Given the description of an element on the screen output the (x, y) to click on. 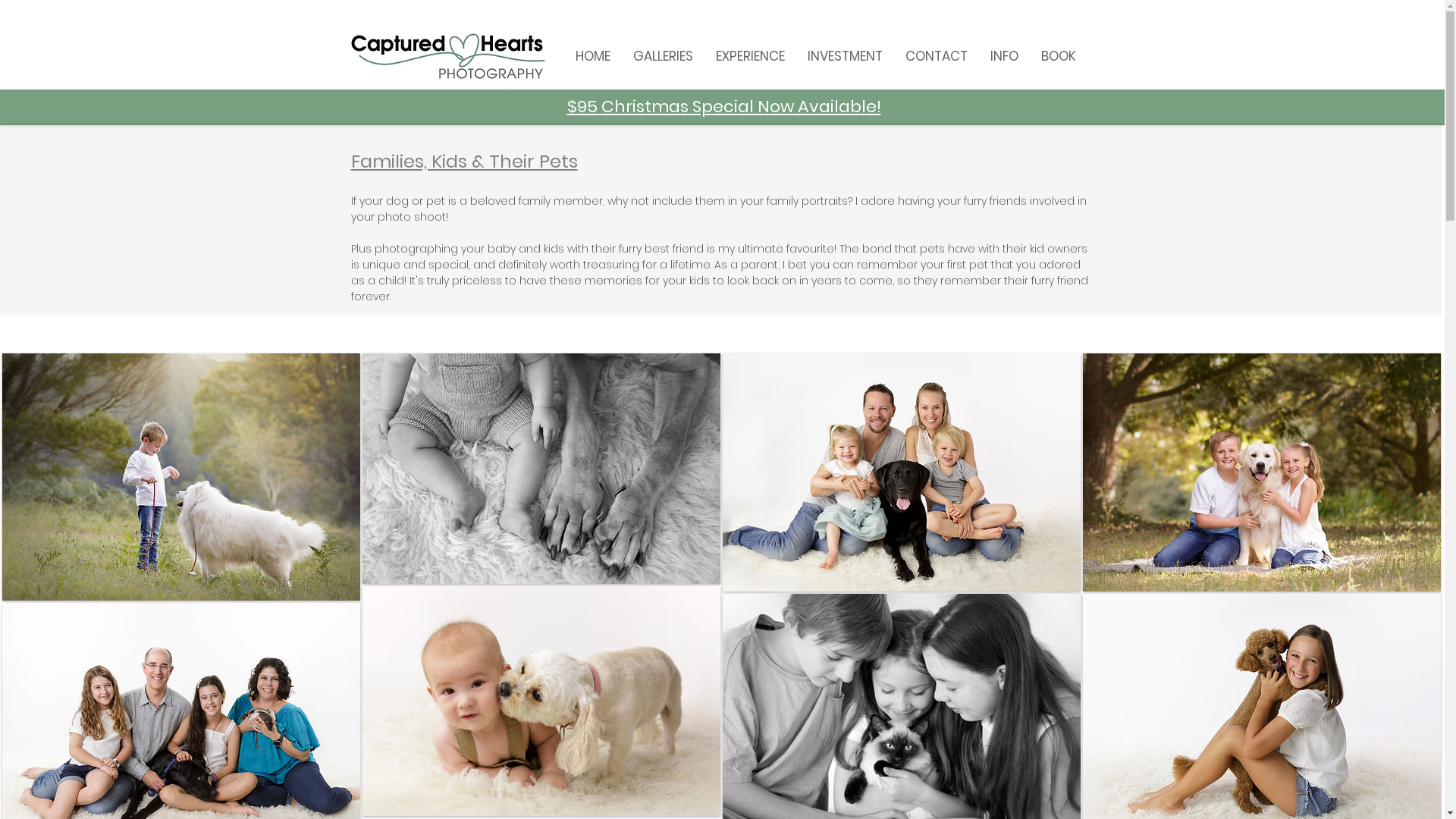
EXPERIENCE Element type: text (749, 56)
$95 Christmas Special Now Available! Element type: text (724, 106)
INVESTMENT Element type: text (845, 56)
BOOK Element type: text (1057, 56)
CONTACT Element type: text (935, 56)
HOME Element type: text (592, 56)
logo2019.png Element type: hover (448, 55)
